Given the description of an element on the screen output the (x, y) to click on. 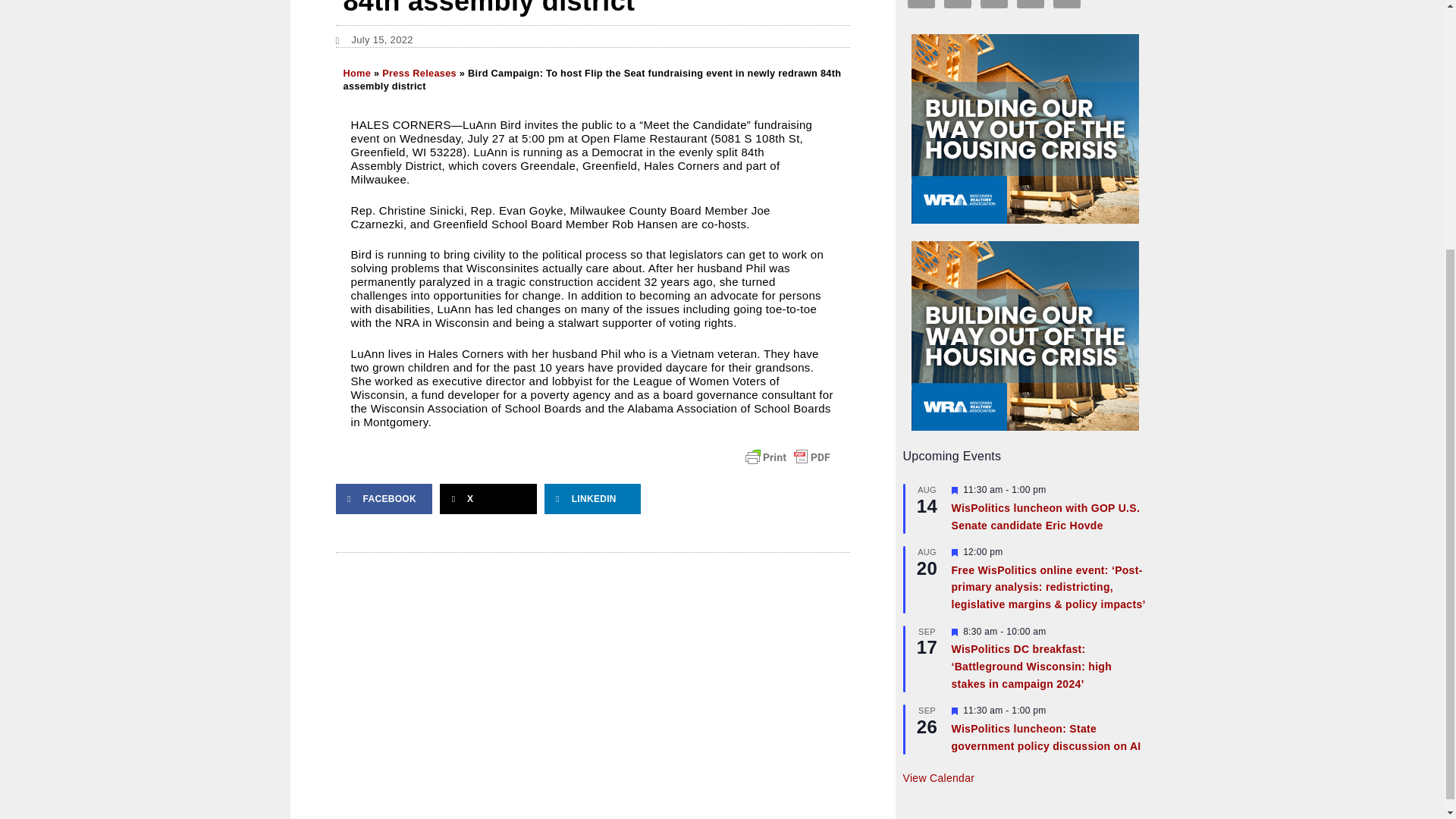
View more events. (938, 778)
